Given the description of an element on the screen output the (x, y) to click on. 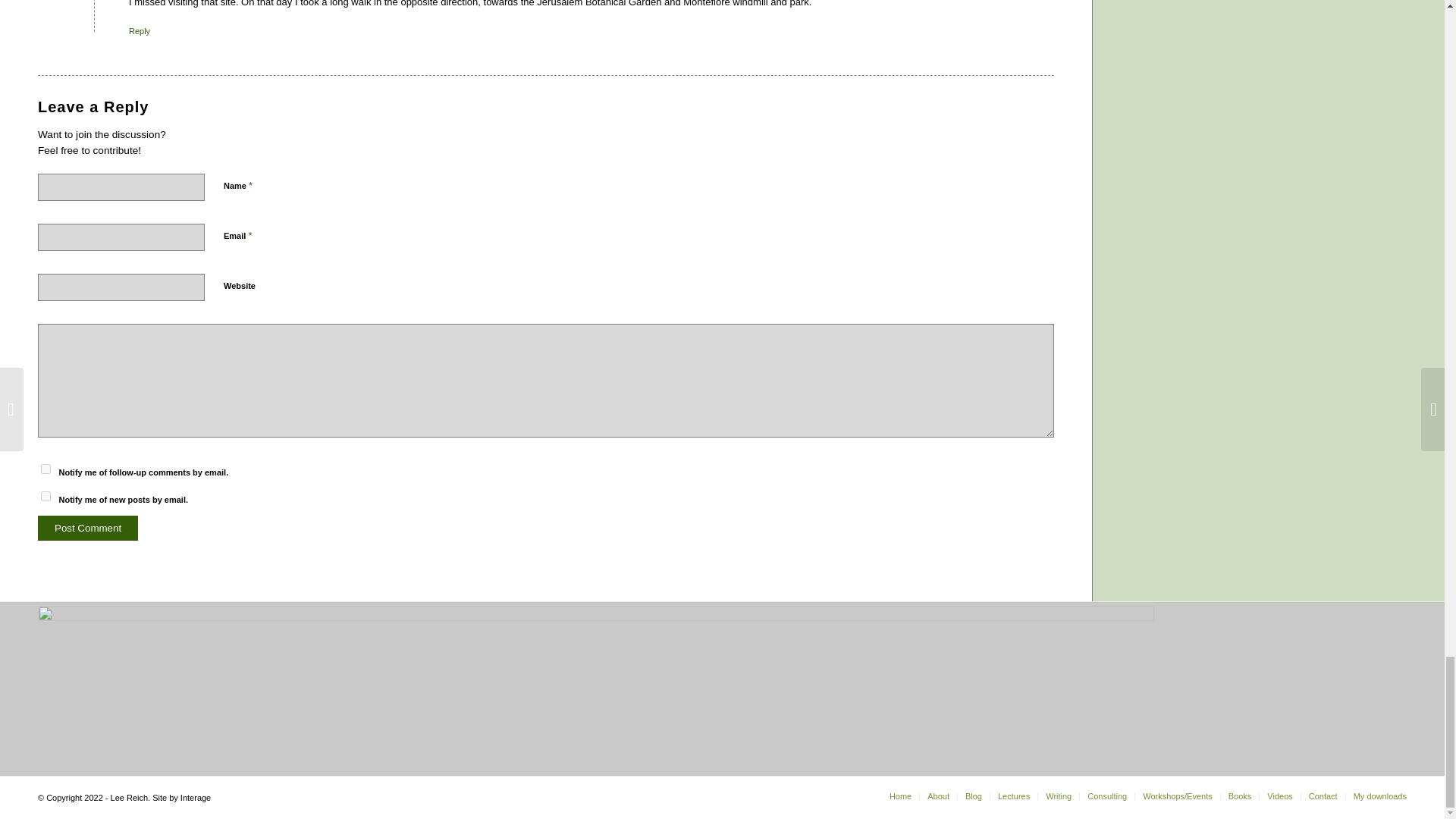
subscribe (45, 496)
subscribe (45, 469)
Post Comment (87, 527)
